Given the description of an element on the screen output the (x, y) to click on. 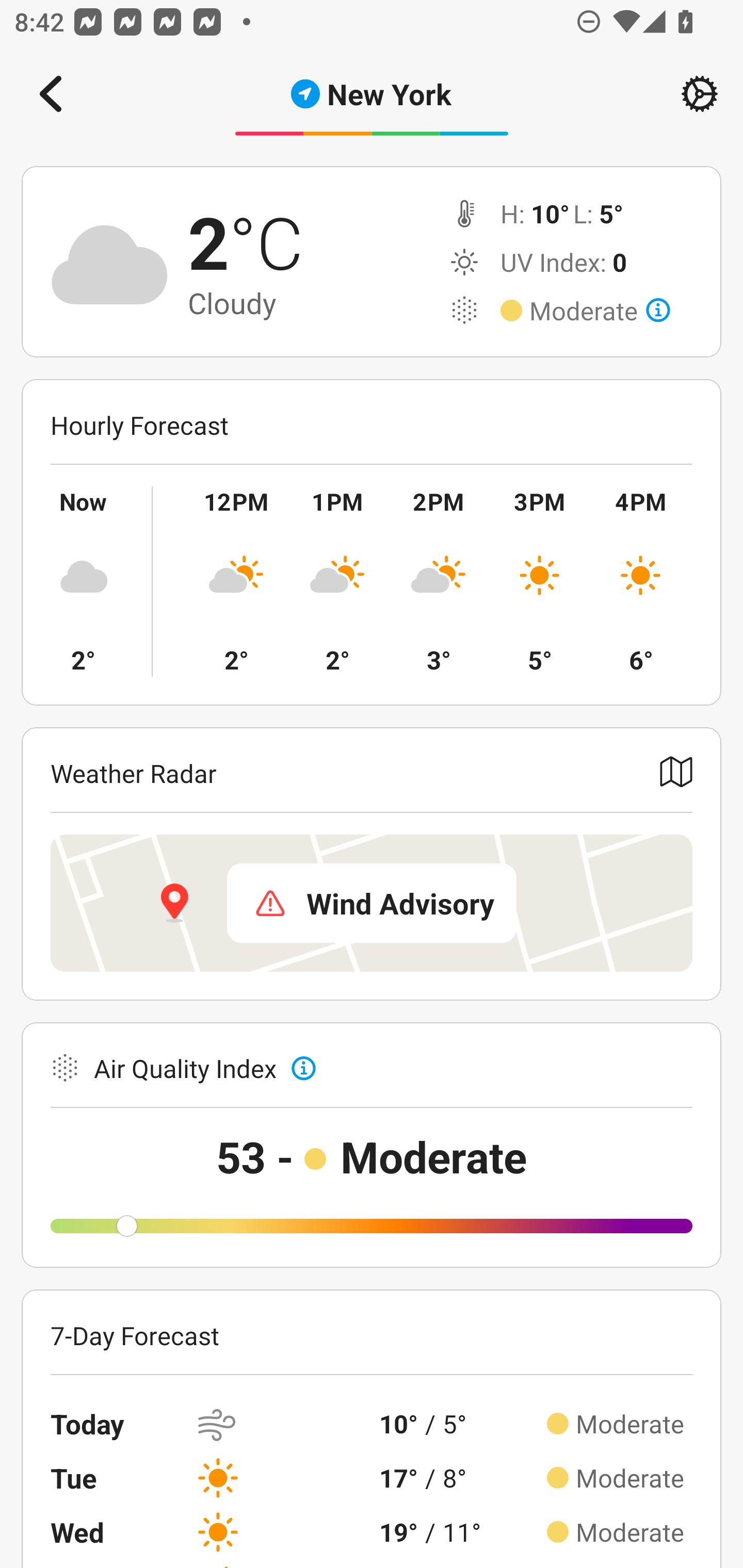
Navigate up (50, 93)
Setting (699, 93)
Moderate (599, 310)
Wind Advisory (371, 903)
